Given the description of an element on the screen output the (x, y) to click on. 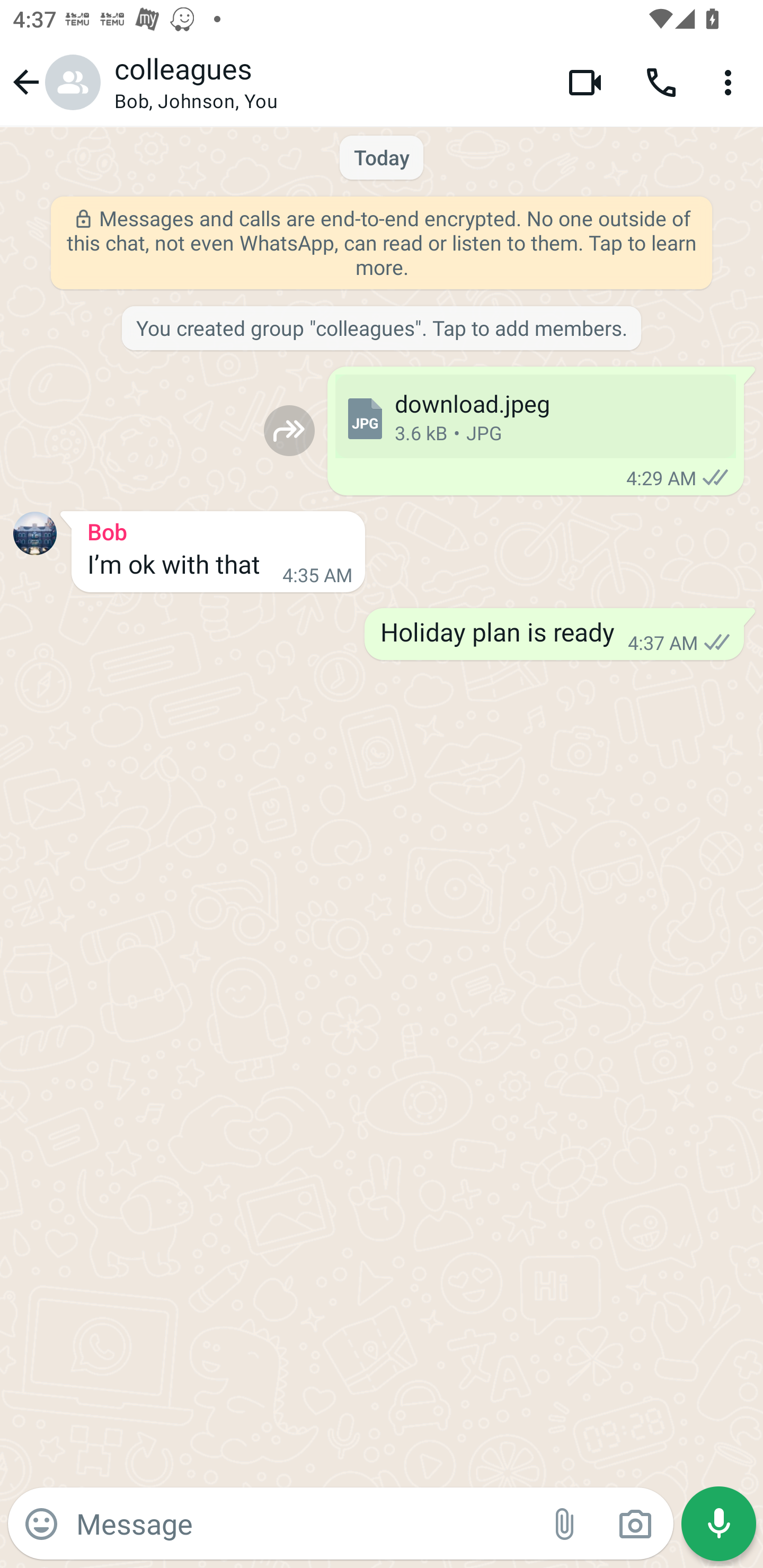
colleagues Bob, Johnson, You (327, 82)
Navigate up (54, 82)
Video call (585, 81)
Voice call (661, 81)
More options (731, 81)
download.jpeg 3.6 kB • JPG (535, 415)
Forward to… (288, 430)
Profile picture for Bob (34, 533)
Bob (217, 529)
Emoji (41, 1523)
Attach (565, 1523)
Camera (634, 1523)
Message (303, 1523)
